Given the description of an element on the screen output the (x, y) to click on. 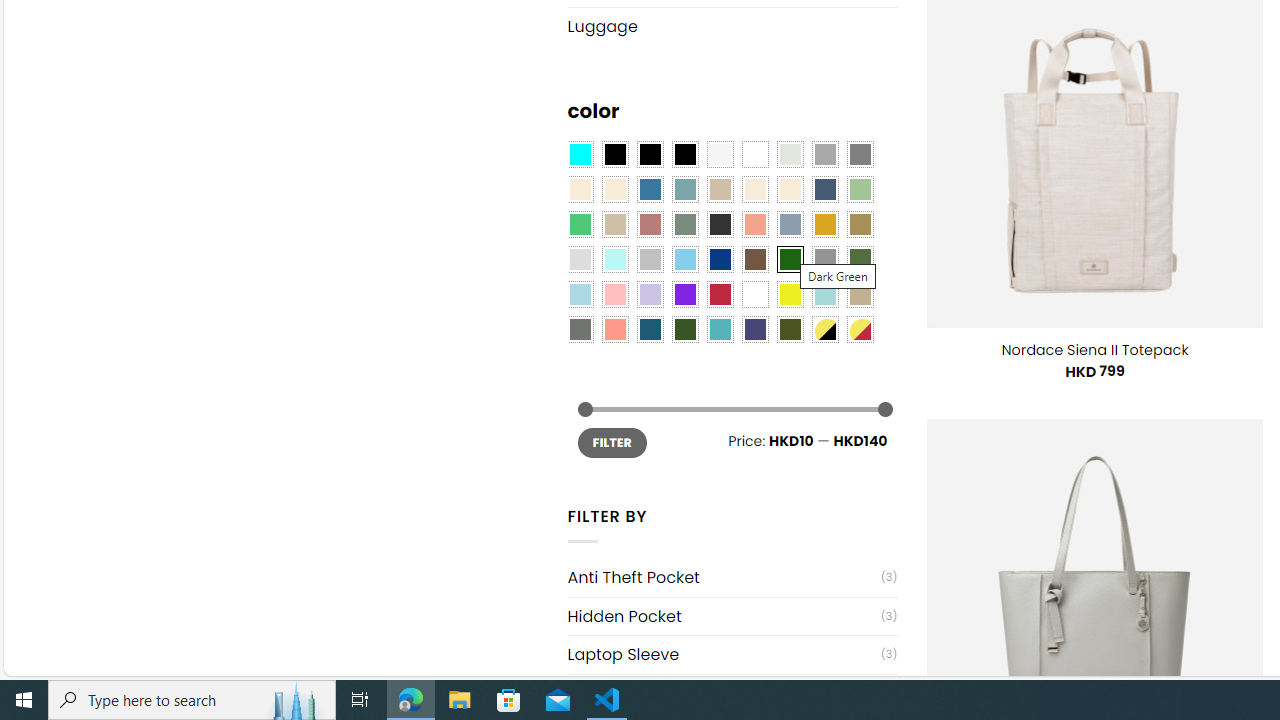
Coral (755, 224)
Dull Nickle (579, 329)
Navy Blue (719, 259)
White (755, 295)
Pink (614, 295)
Beige-Brown (614, 190)
Mint (614, 259)
Sky Blue (684, 259)
Green (859, 259)
Charcoal (719, 224)
Forest (684, 329)
Rose (650, 224)
Luggage (732, 25)
Nordace Siena II Totepack (1094, 350)
FILTER (612, 442)
